Given the description of an element on the screen output the (x, y) to click on. 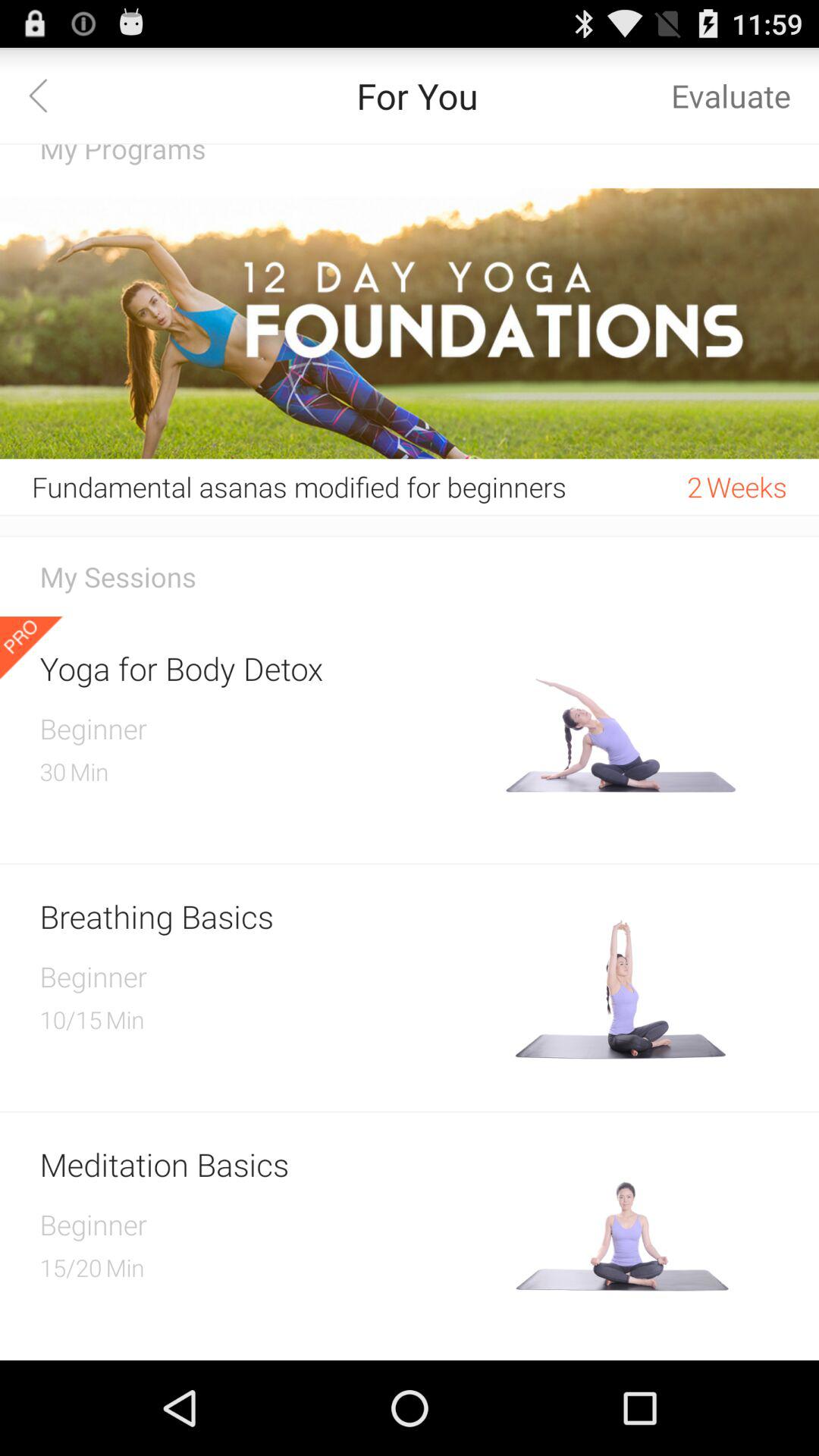
press the my programs item (409, 166)
